Given the description of an element on the screen output the (x, y) to click on. 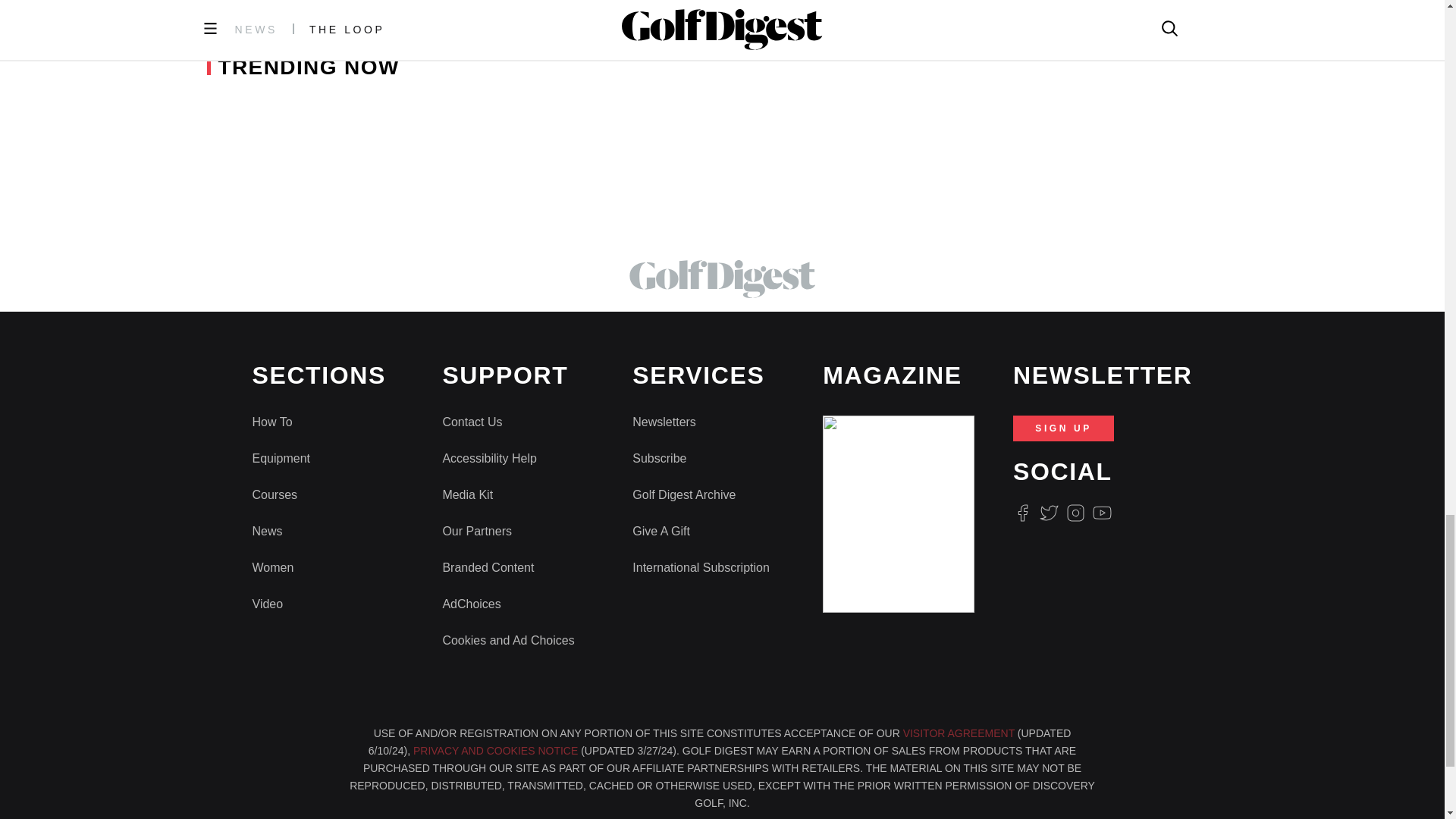
Facebook Logo (1022, 512)
Twitter Logo (1048, 512)
Instagram Logo (1074, 512)
Youtube Icon (1102, 512)
